Given the description of an element on the screen output the (x, y) to click on. 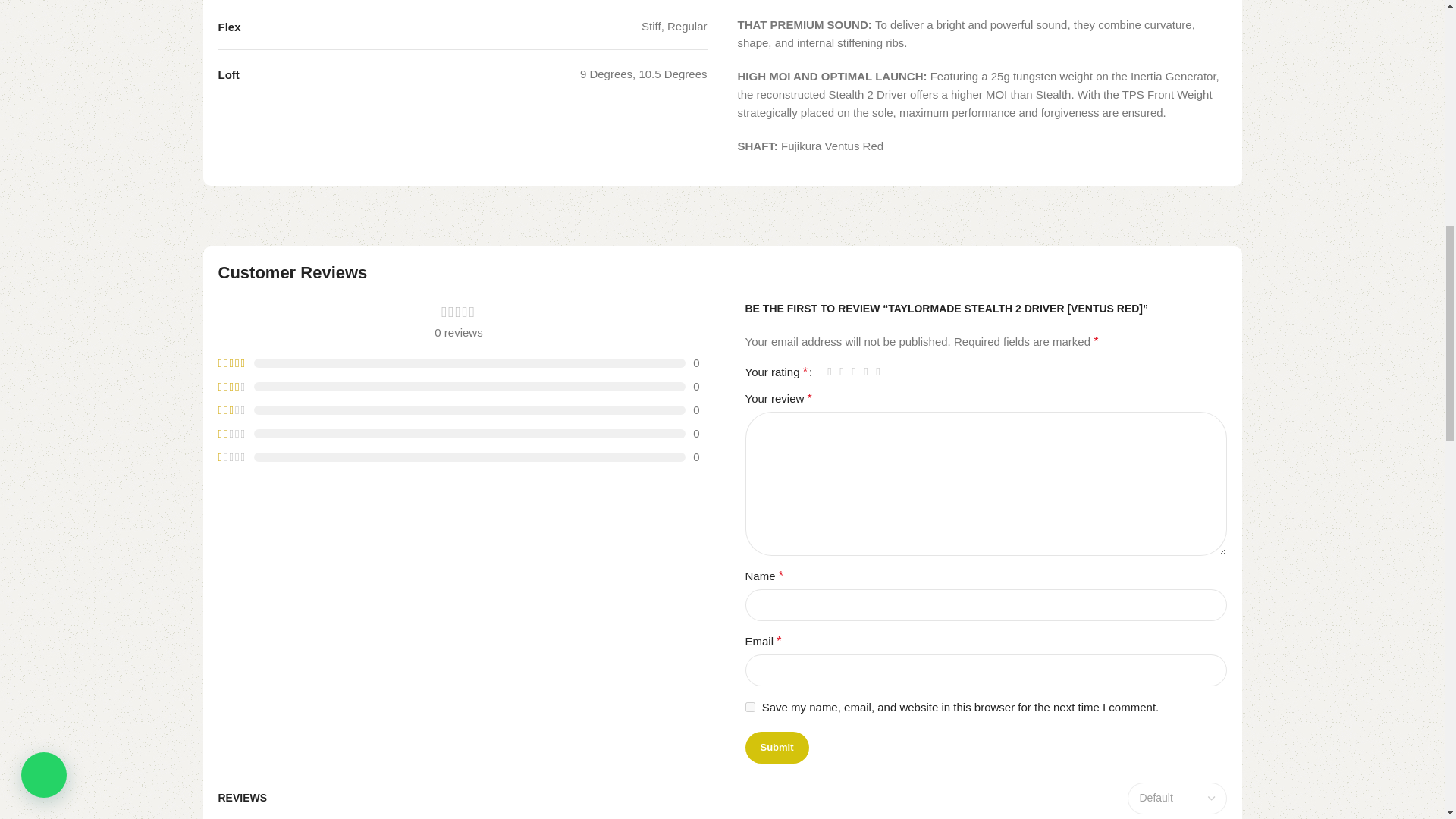
Submit (776, 747)
yes (749, 706)
3 (853, 371)
1 (829, 371)
2 (841, 371)
